Given the description of an element on the screen output the (x, y) to click on. 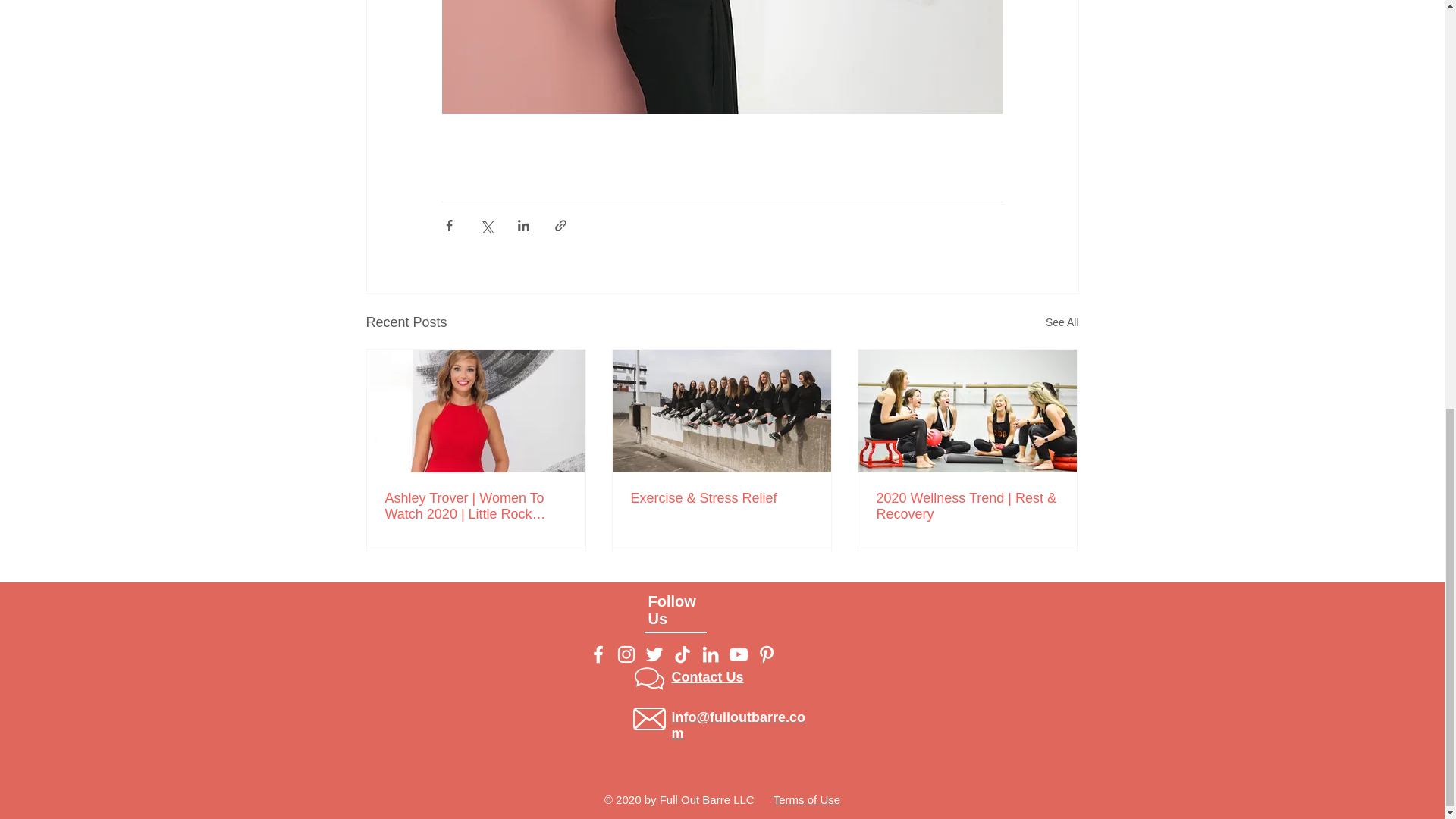
See All (1061, 322)
Contact Us (707, 676)
Terms of Use (806, 799)
